Given the description of an element on the screen output the (x, y) to click on. 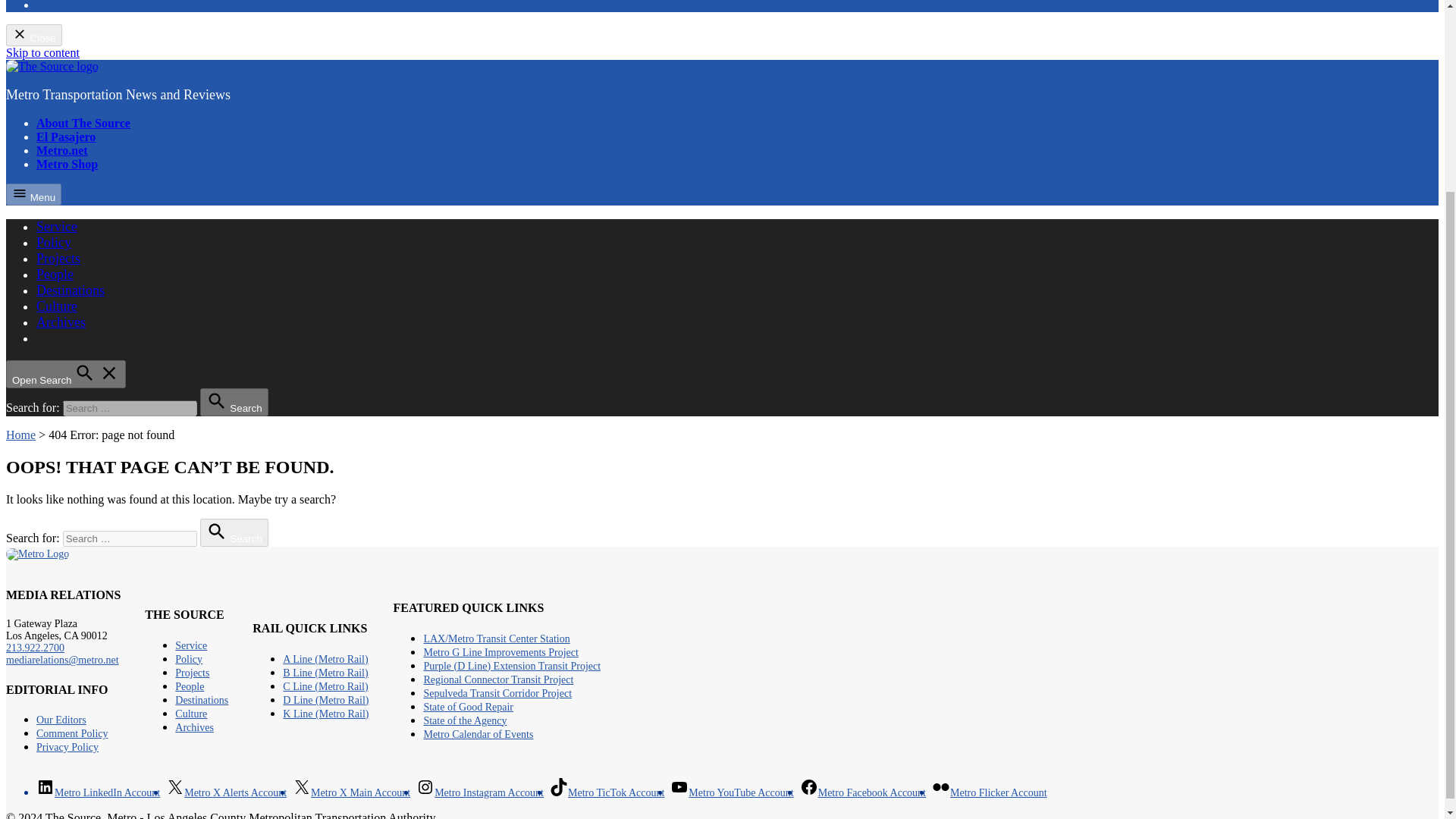
Search (233, 532)
Search (233, 402)
Destinations (70, 290)
Policy (53, 242)
People (55, 273)
El Pasajero (66, 136)
Comment Policy (71, 733)
Service (190, 645)
Privacy Policy (67, 747)
Metro Shop (66, 164)
